Given the description of an element on the screen output the (x, y) to click on. 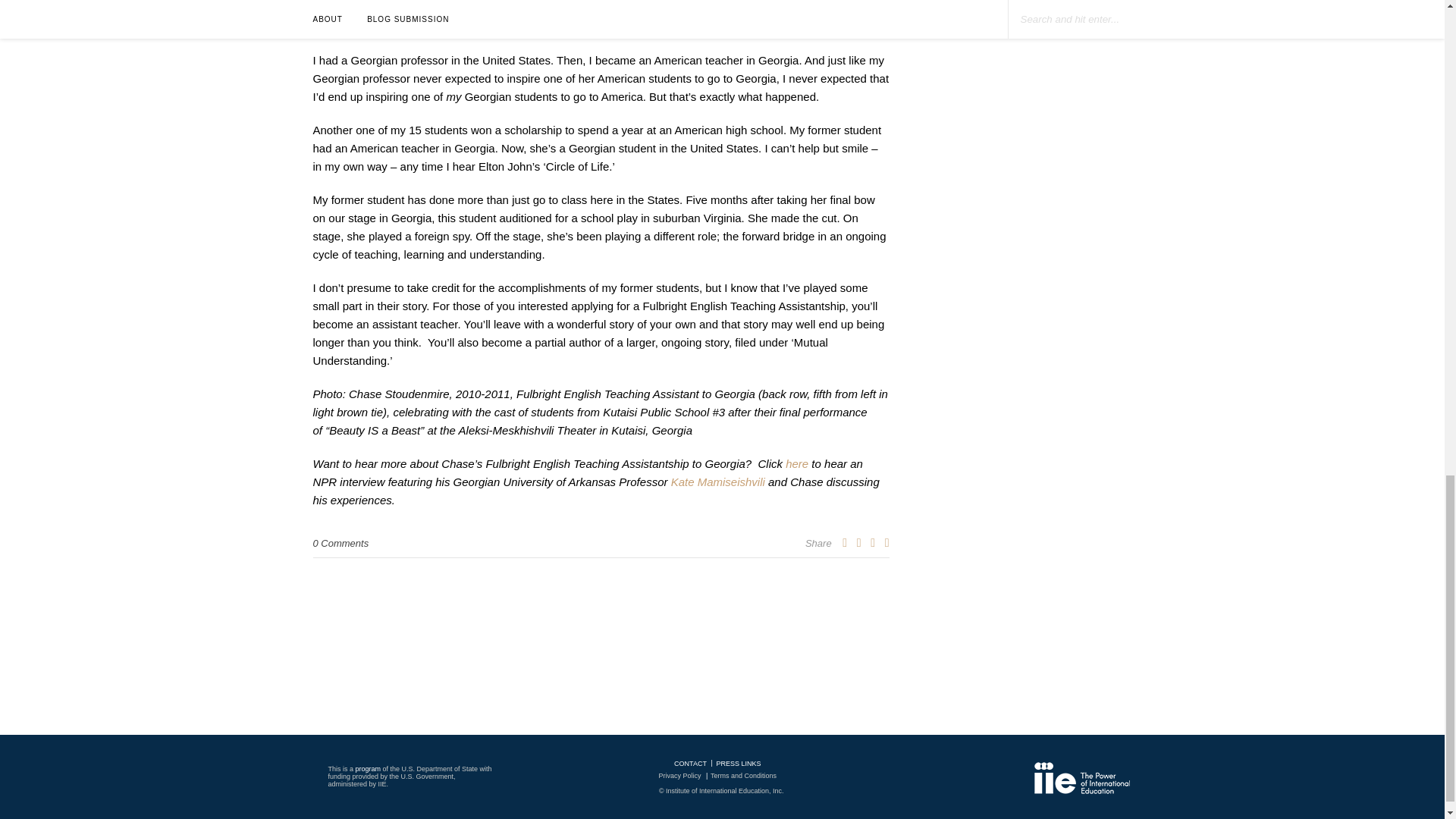
here (797, 463)
Privacy Policy (679, 775)
Kate Mamiseishvili (718, 481)
Press Links (738, 763)
Contact (690, 763)
Terms and Conditions (743, 775)
0 Comments (340, 542)
